Given the description of an element on the screen output the (x, y) to click on. 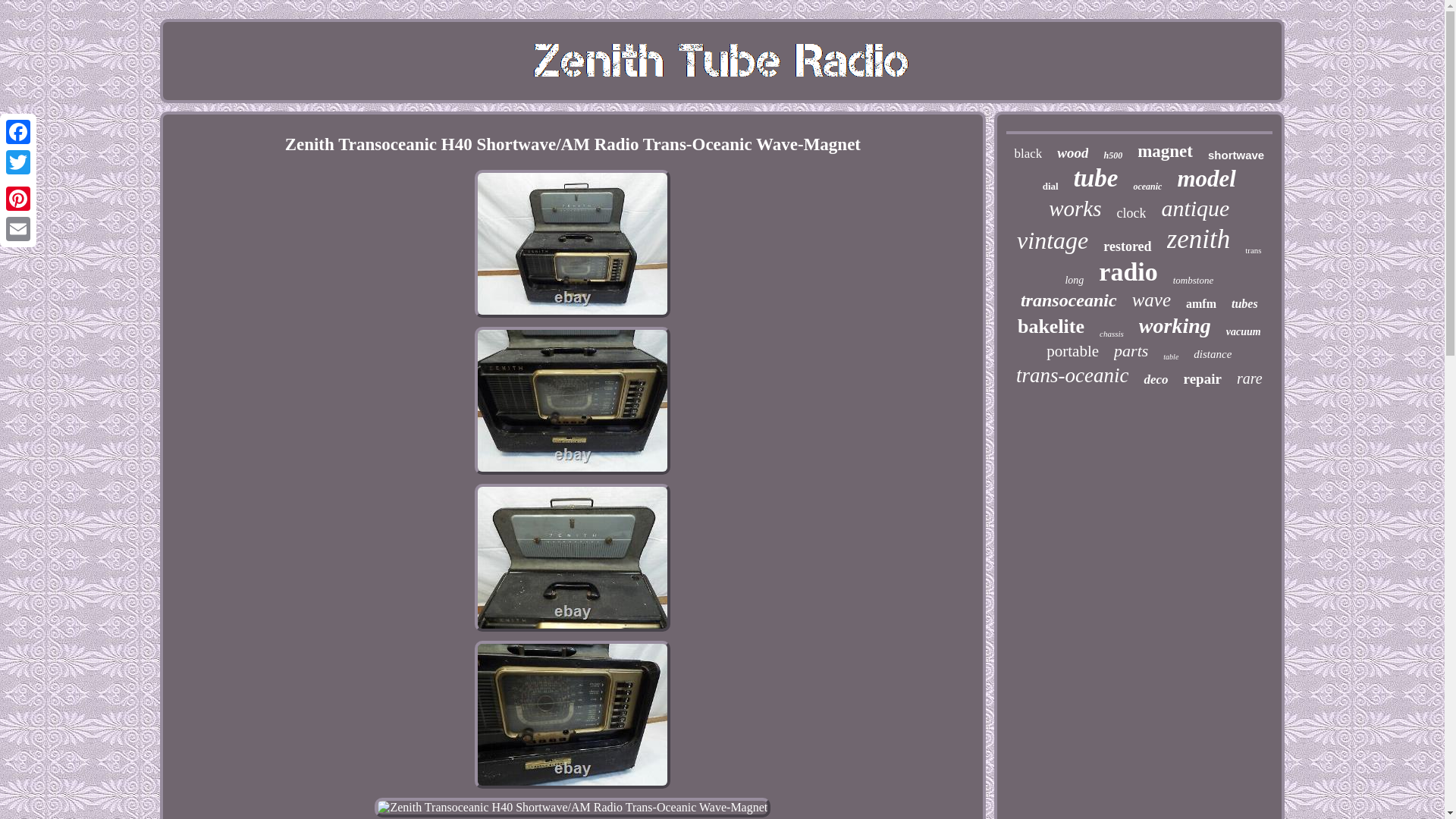
oceanic (1146, 186)
restored (1127, 246)
dial (1050, 186)
Facebook (17, 132)
black (1027, 153)
Twitter (17, 162)
chassis (1111, 333)
long (1073, 280)
tubes (1244, 304)
tube (1096, 178)
antique (1194, 208)
wood (1072, 152)
transoceanic (1068, 300)
working (1174, 325)
trans (1252, 249)
